Given the description of an element on the screen output the (x, y) to click on. 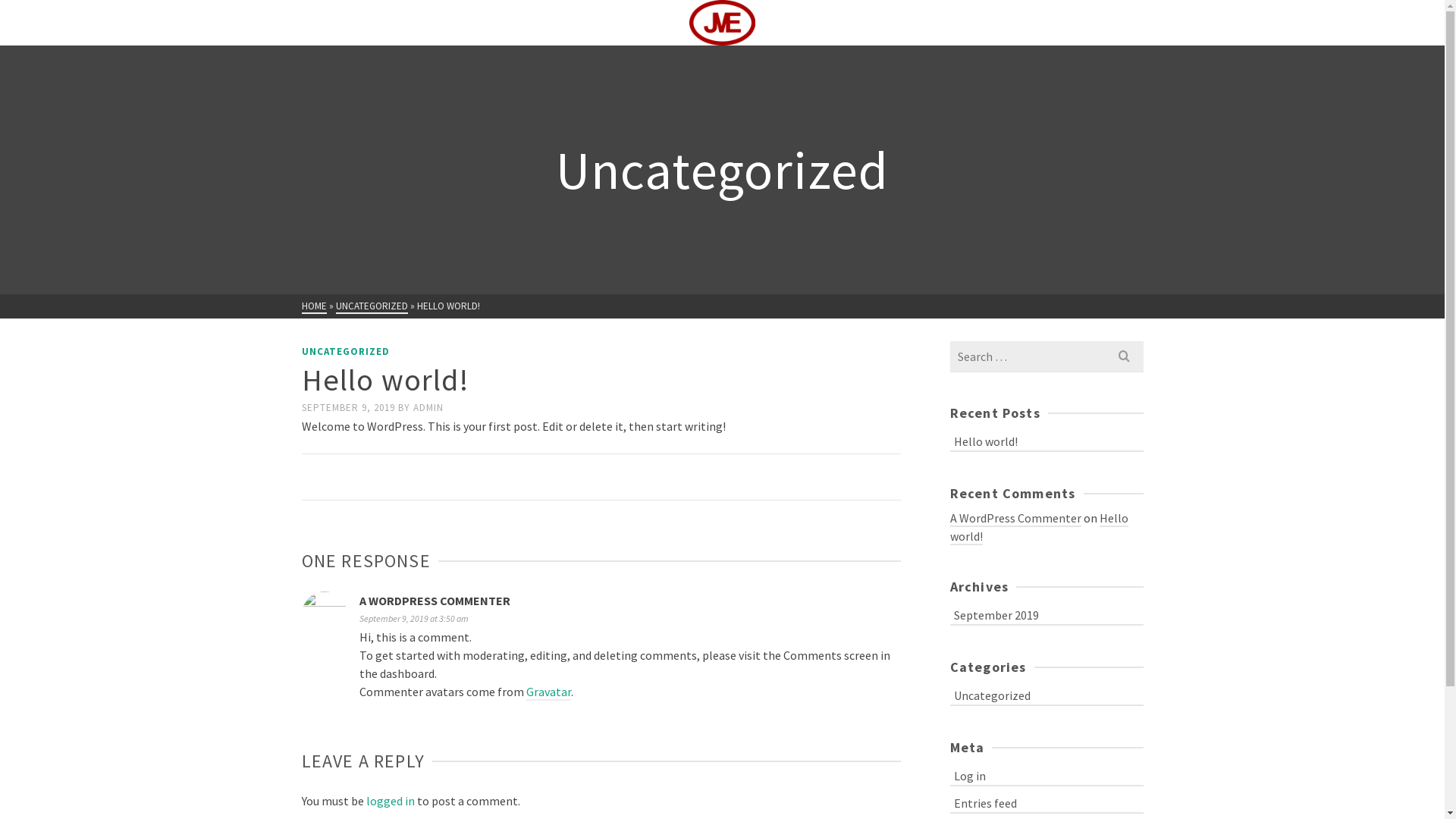
Hello world! Element type: text (1045, 439)
UNCATEGORIZED Element type: text (345, 351)
A WordPress Commenter Element type: text (1014, 518)
A WORDPRESS COMMENTER Element type: text (434, 600)
Entries feed Element type: text (1045, 801)
Uncategorized Element type: text (1045, 694)
Hello world! Element type: text (1038, 527)
September 2019 Element type: text (1045, 613)
ADMIN Element type: text (427, 407)
UNCATEGORIZED Element type: text (371, 306)
Log in Element type: text (1045, 774)
September 9, 2019 at 3:50 am Element type: text (413, 618)
Gravatar Element type: text (548, 692)
logged in Element type: text (389, 800)
HOME Element type: text (313, 306)
